Given the description of an element on the screen output the (x, y) to click on. 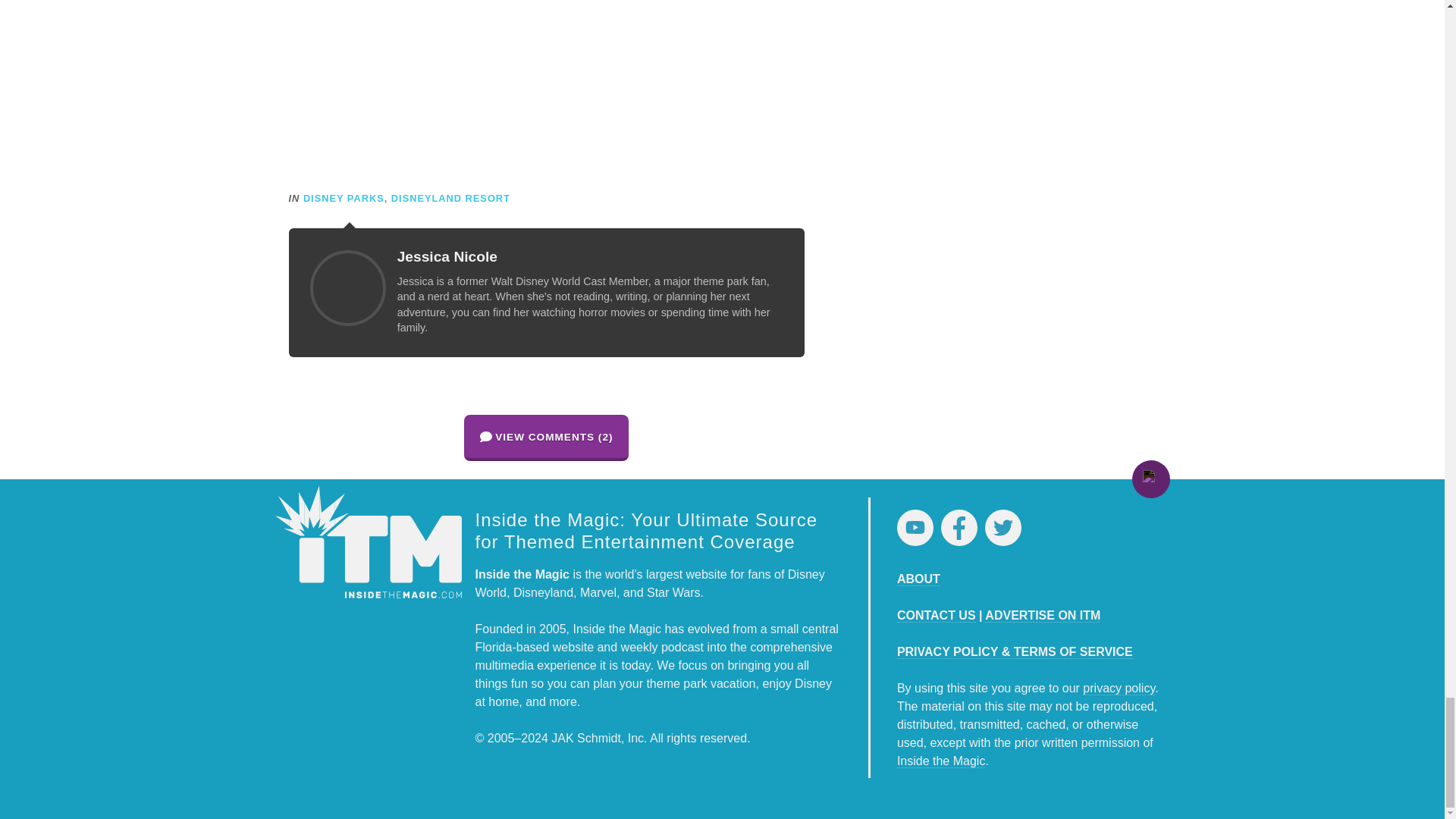
Return to Top (1150, 478)
